Given the description of an element on the screen output the (x, y) to click on. 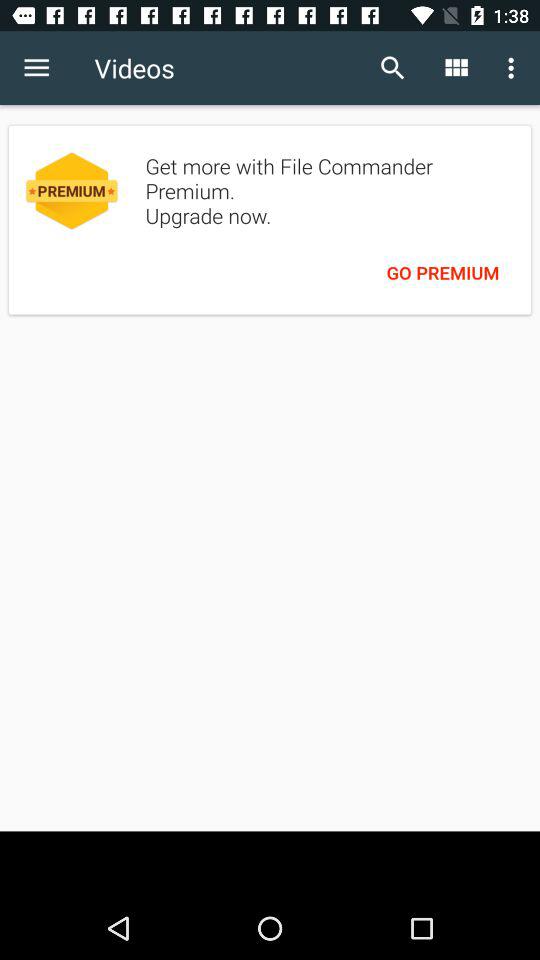
tap the item below go premium icon (270, 863)
